Given the description of an element on the screen output the (x, y) to click on. 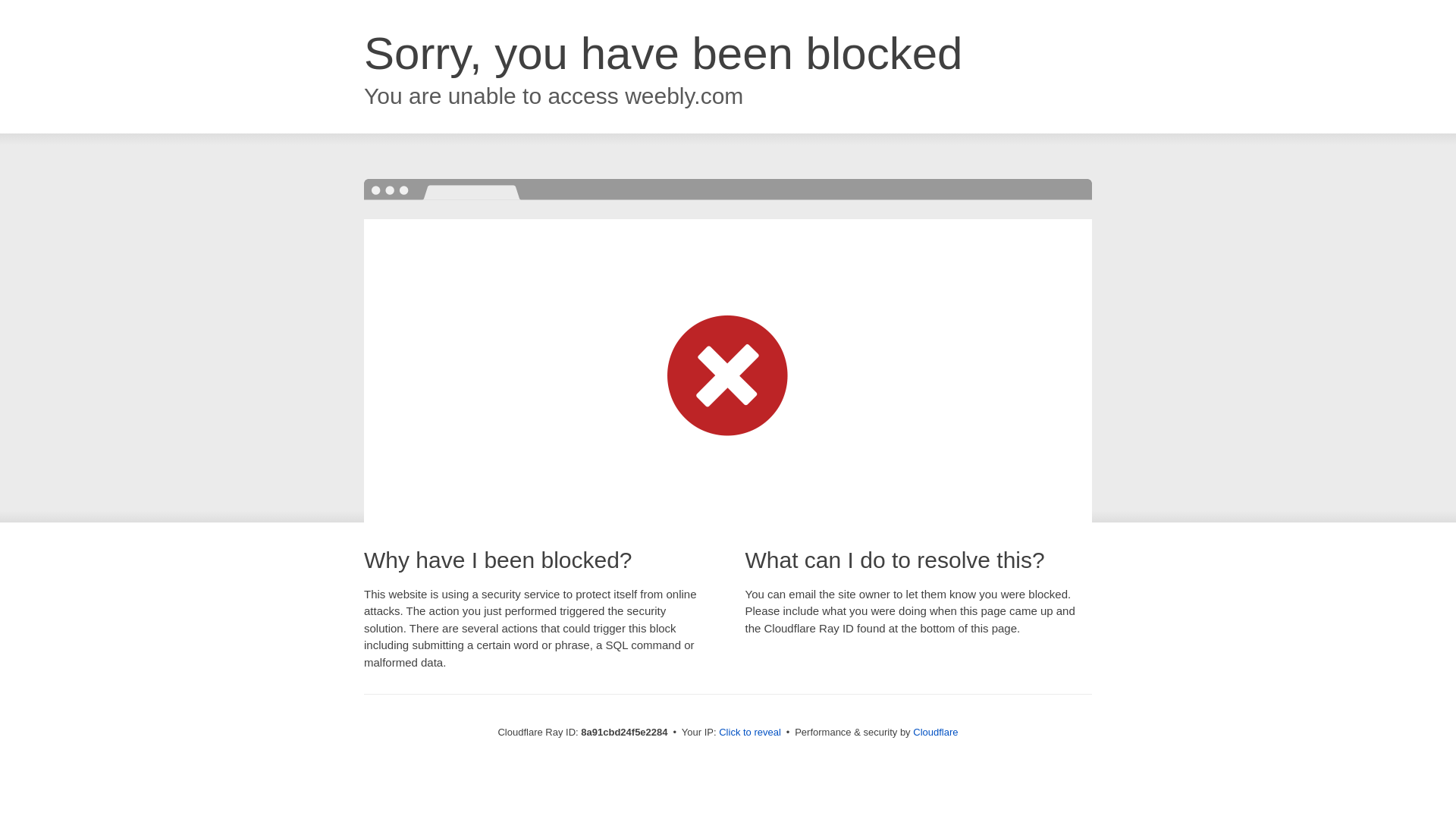
Cloudflare (935, 731)
Click to reveal (749, 732)
